Given the description of an element on the screen output the (x, y) to click on. 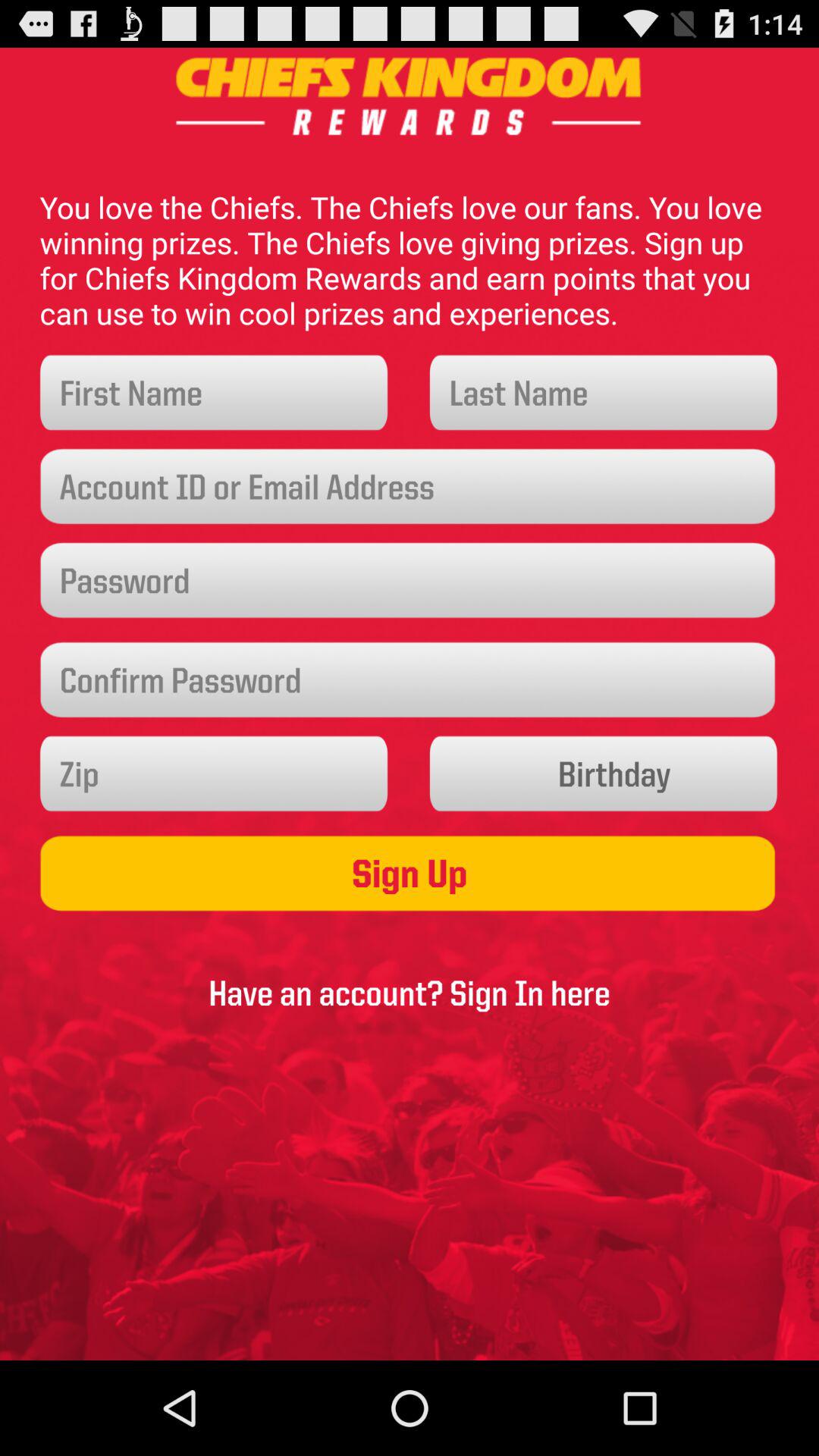
password icon (409, 580)
